Given the description of an element on the screen output the (x, y) to click on. 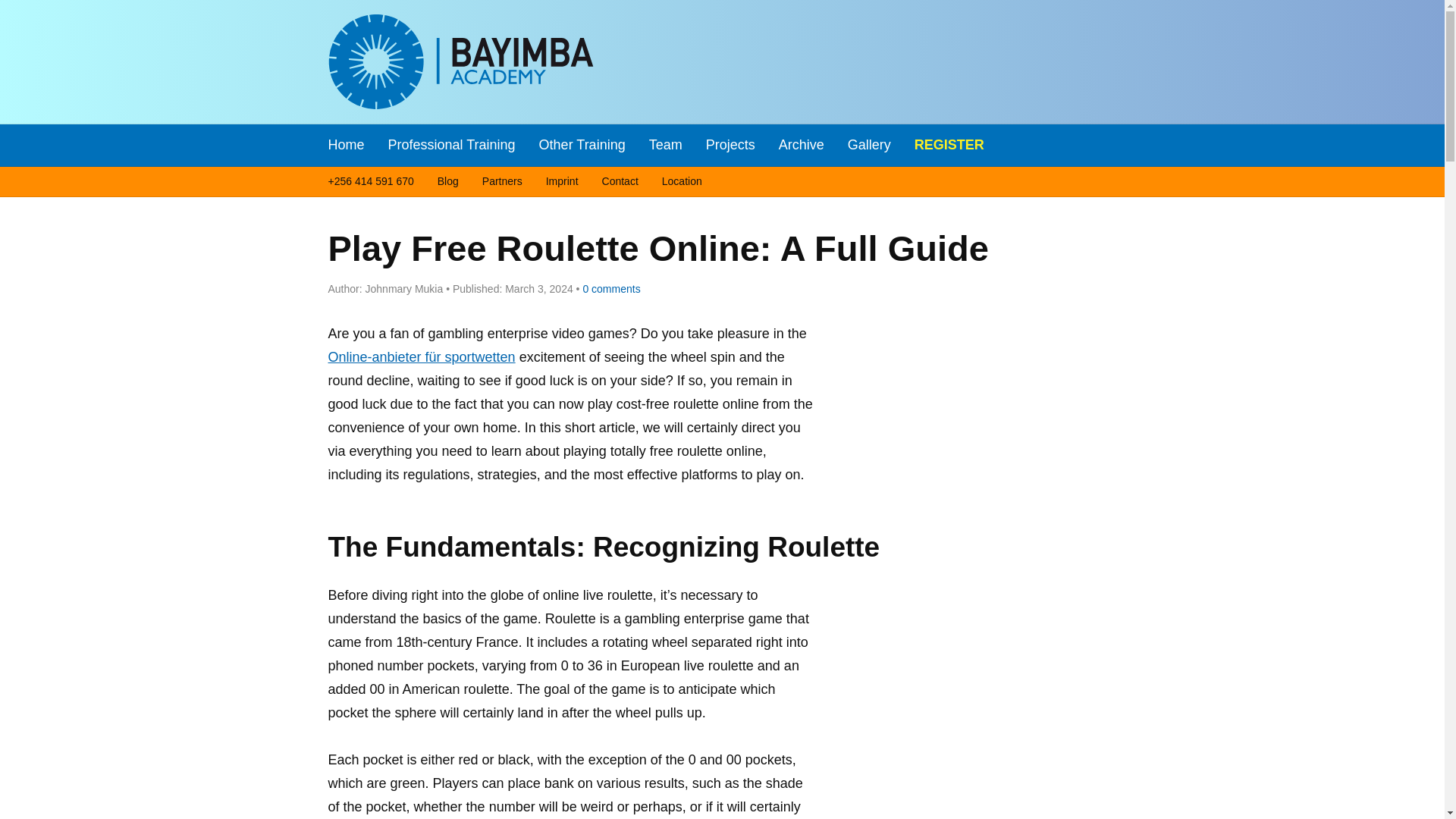
Archive (801, 145)
Imprint (562, 181)
Projects (730, 145)
Contact (620, 181)
REGISTER (949, 145)
Partners (501, 181)
Other Training (582, 145)
Professional Training (451, 145)
Gallery (869, 145)
0 comments (608, 288)
